Given the description of an element on the screen output the (x, y) to click on. 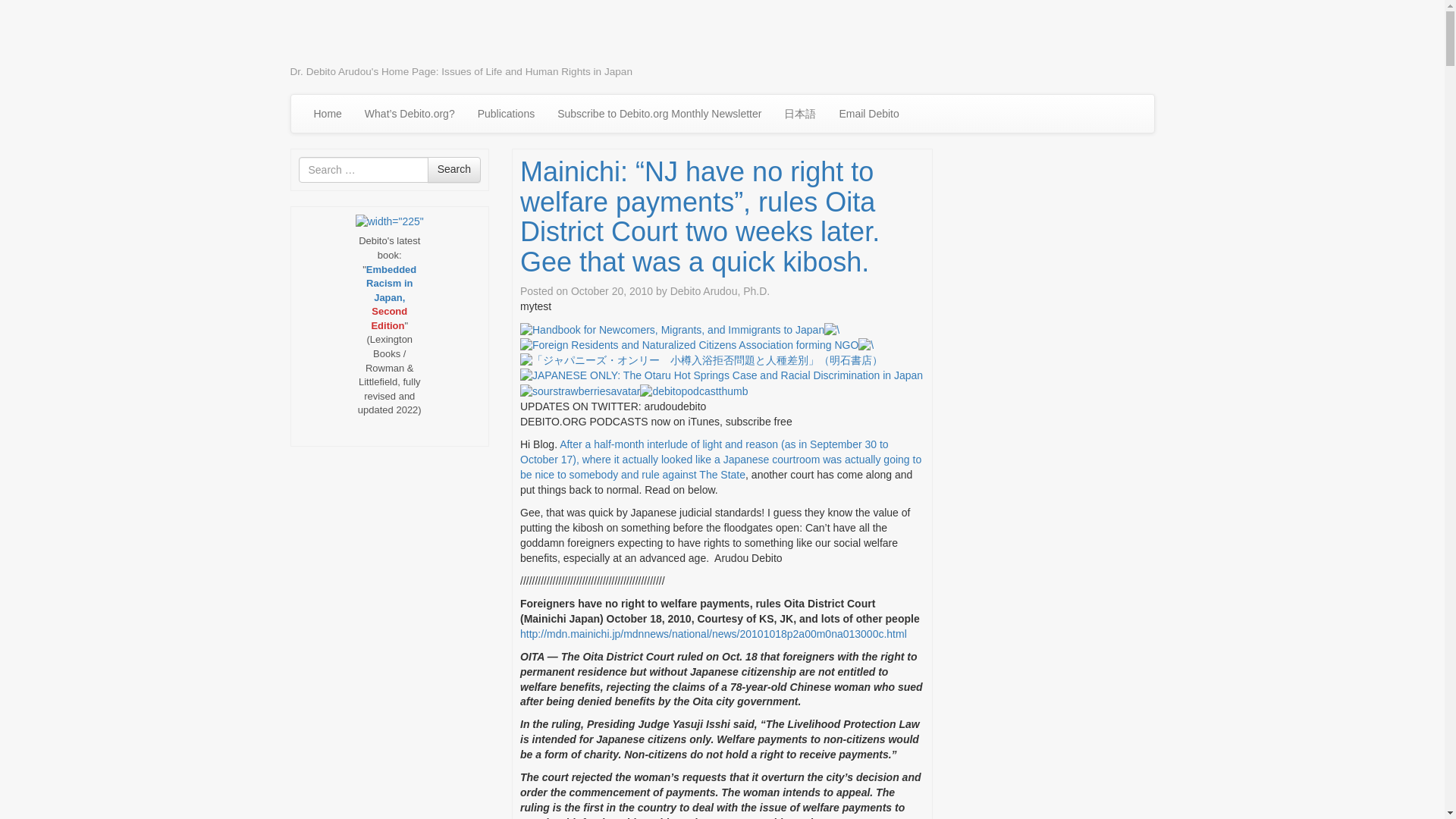
japaneseonlyecover (721, 376)
jobookcover (700, 360)
Search (454, 169)
Subscribe to Debito.org Monthly Newsletter (659, 113)
welcomesticker (832, 330)
Email Debito (868, 113)
joshirtblack2 (866, 345)
HANDBOOKsemifinalcover.jpg (671, 330)
Search for: (363, 169)
franca-color (689, 345)
